Given the description of an element on the screen output the (x, y) to click on. 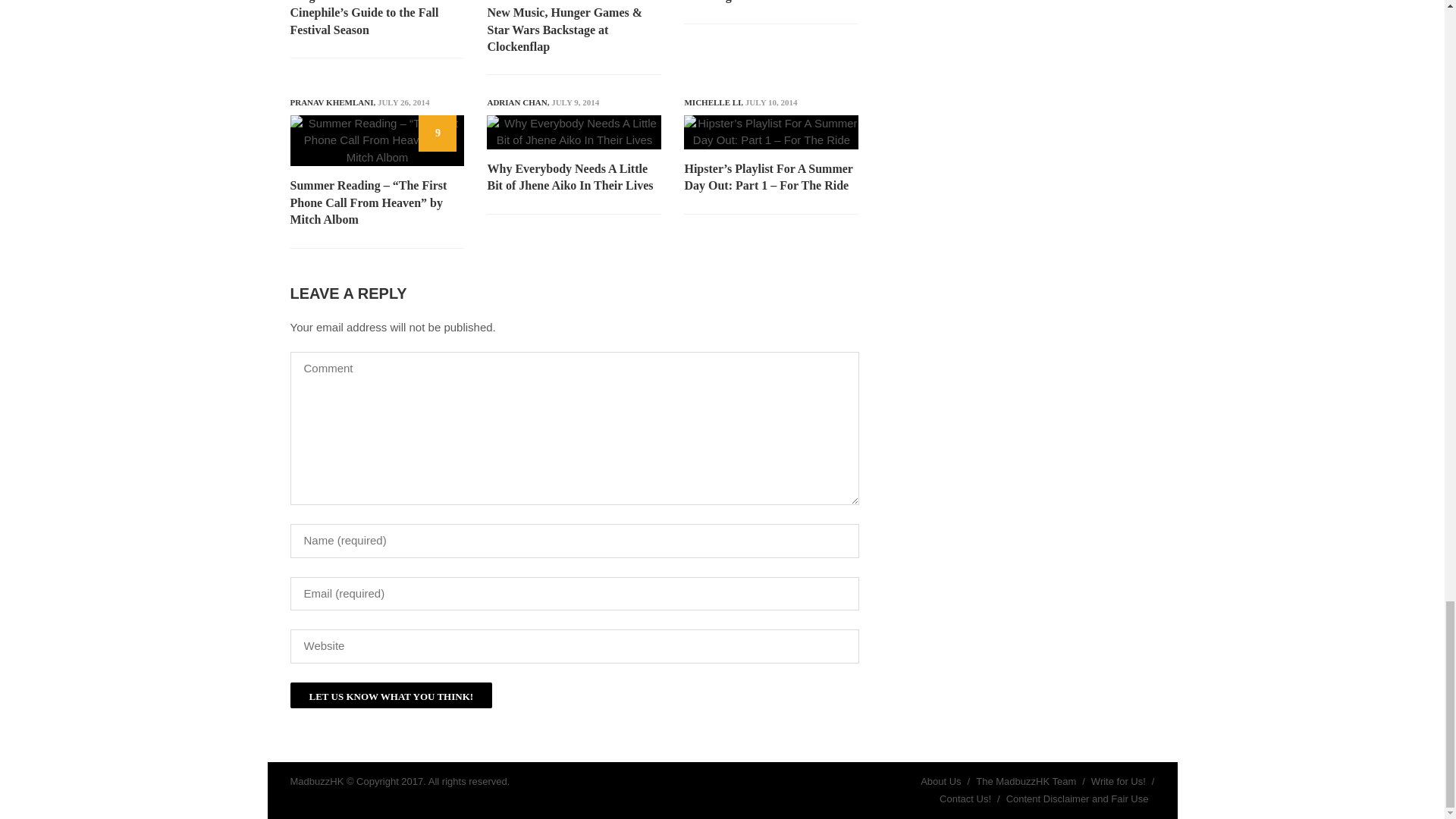
Let us know what you think! (390, 695)
